Given the description of an element on the screen output the (x, y) to click on. 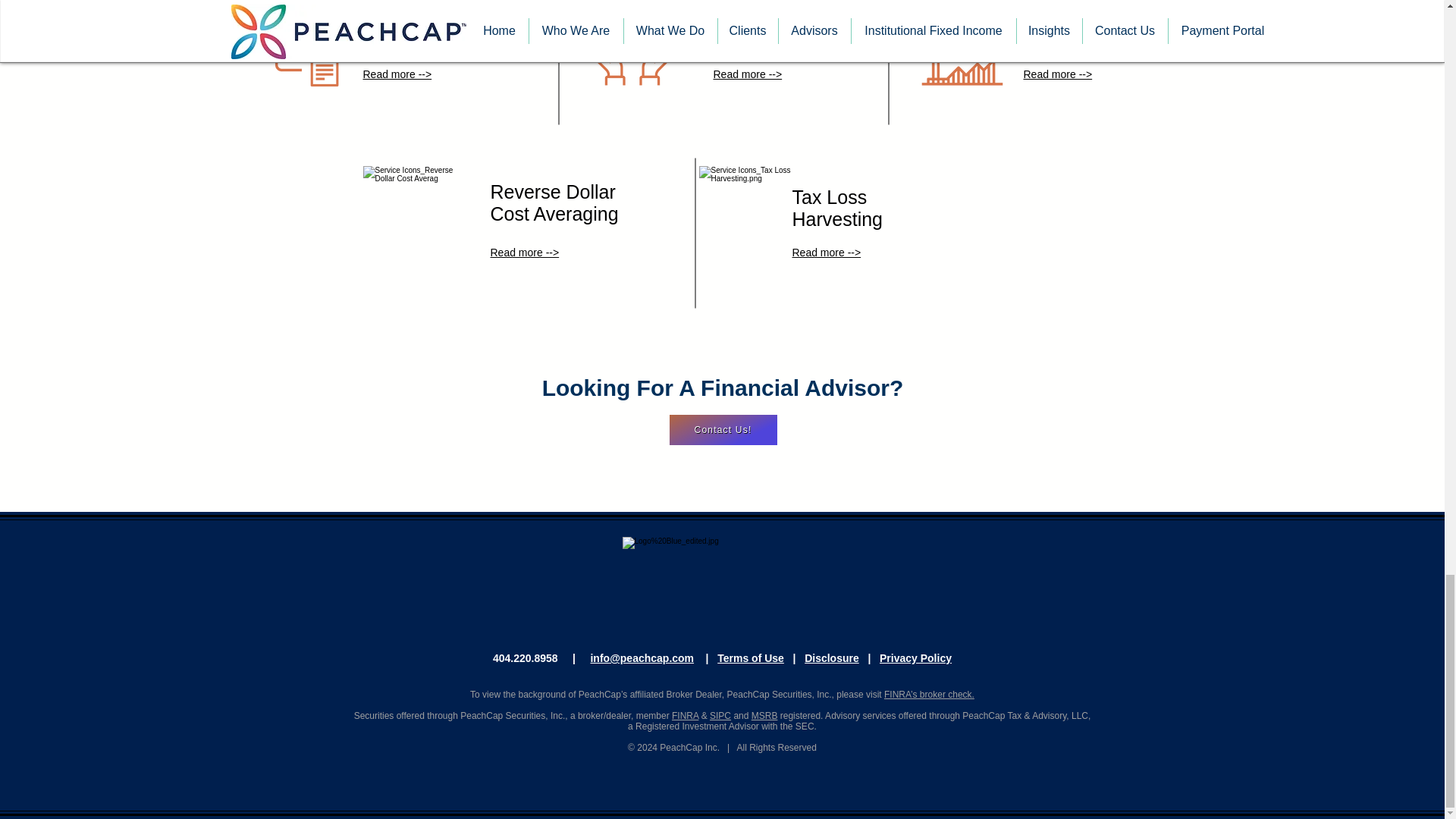
Terms of Use (750, 657)
Contact Us! (722, 429)
